Given the description of an element on the screen output the (x, y) to click on. 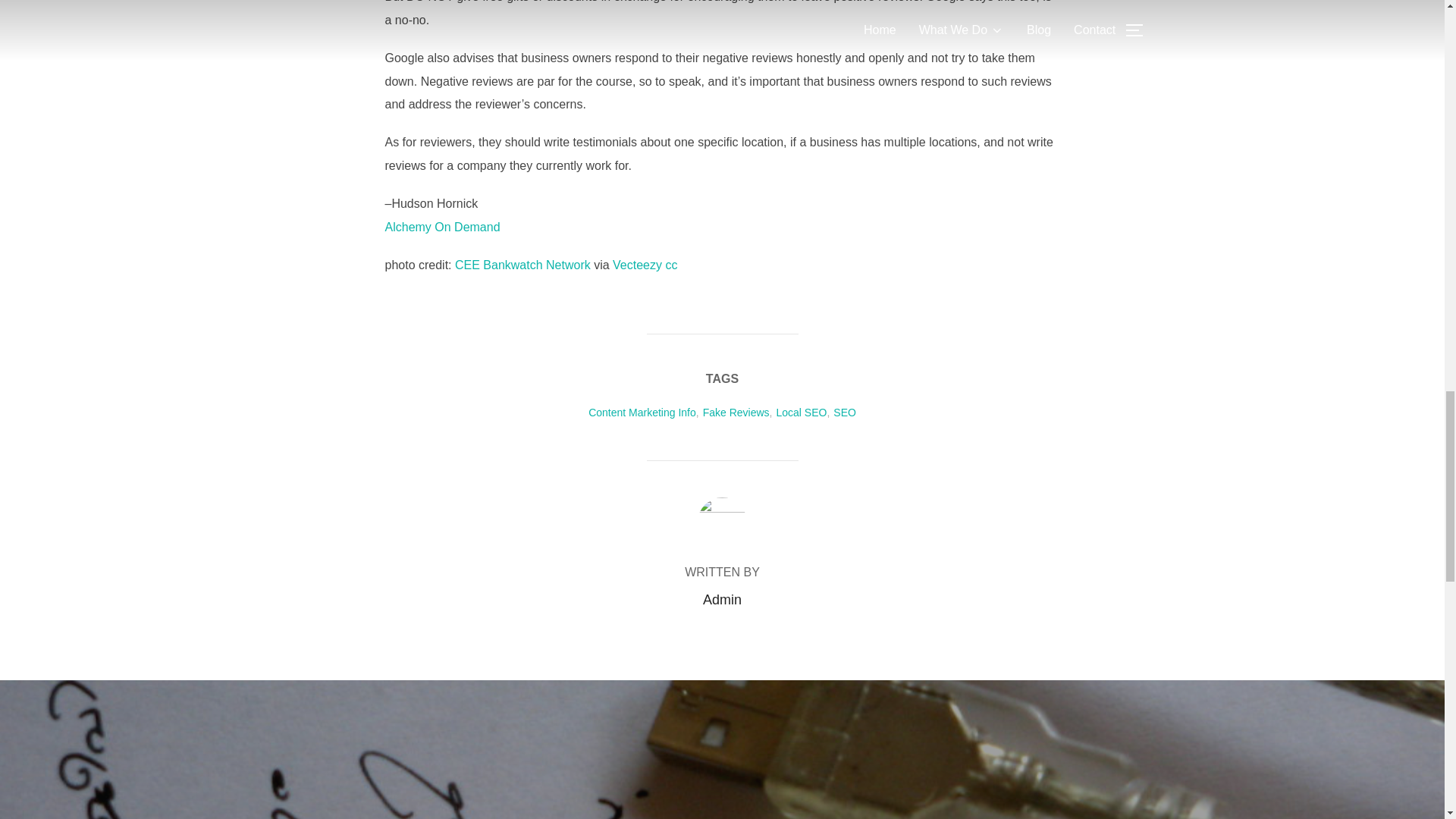
Alchemy On Demand (442, 226)
Content Marketing Info (641, 412)
Posts by Admin (722, 599)
Fake Reviews (736, 412)
CEE Bankwatch Network (522, 264)
Vecteezy (637, 264)
cc (671, 264)
Local SEO (801, 412)
